Given the description of an element on the screen output the (x, y) to click on. 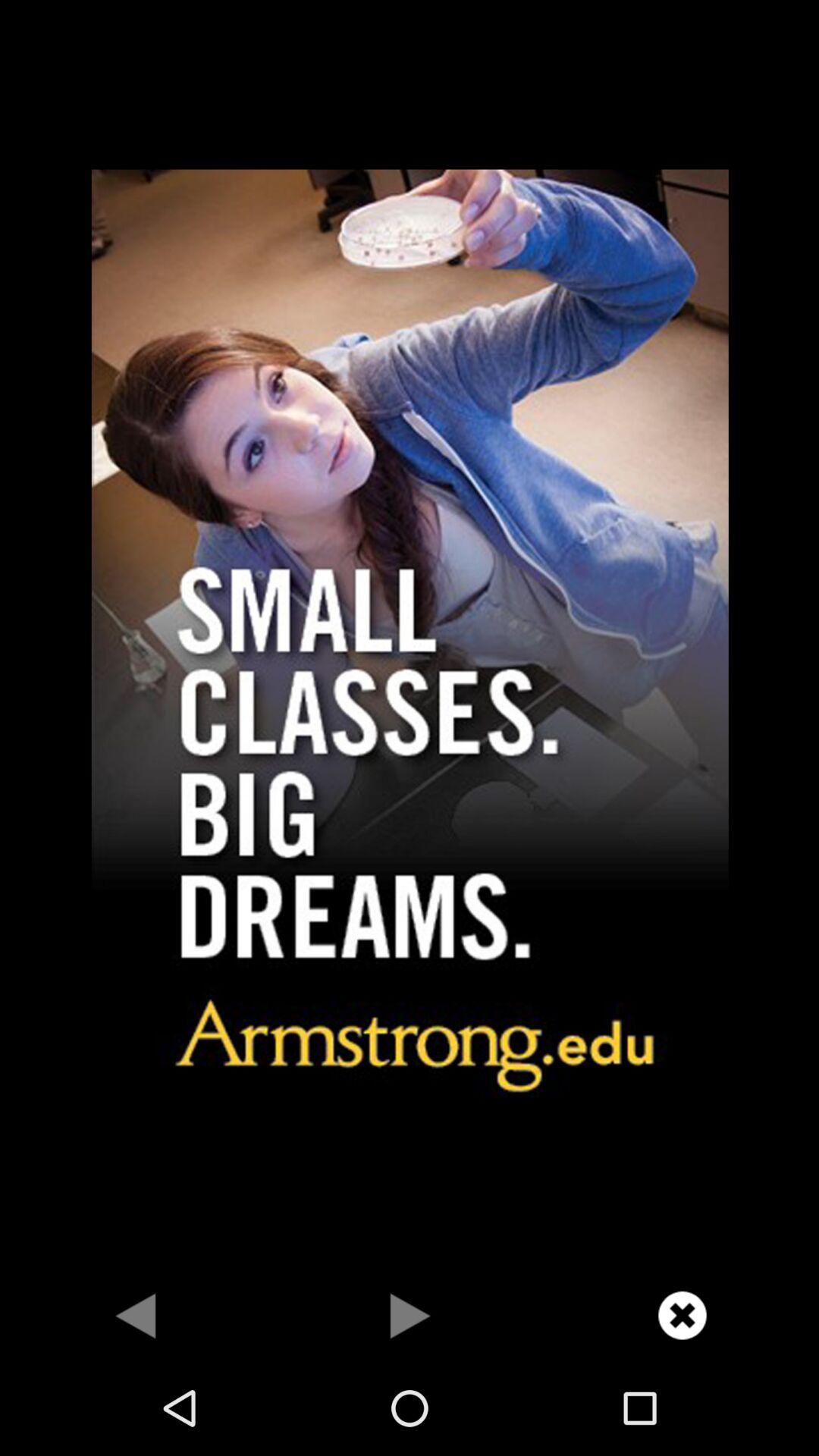
go back play option (136, 1315)
